Given the description of an element on the screen output the (x, y) to click on. 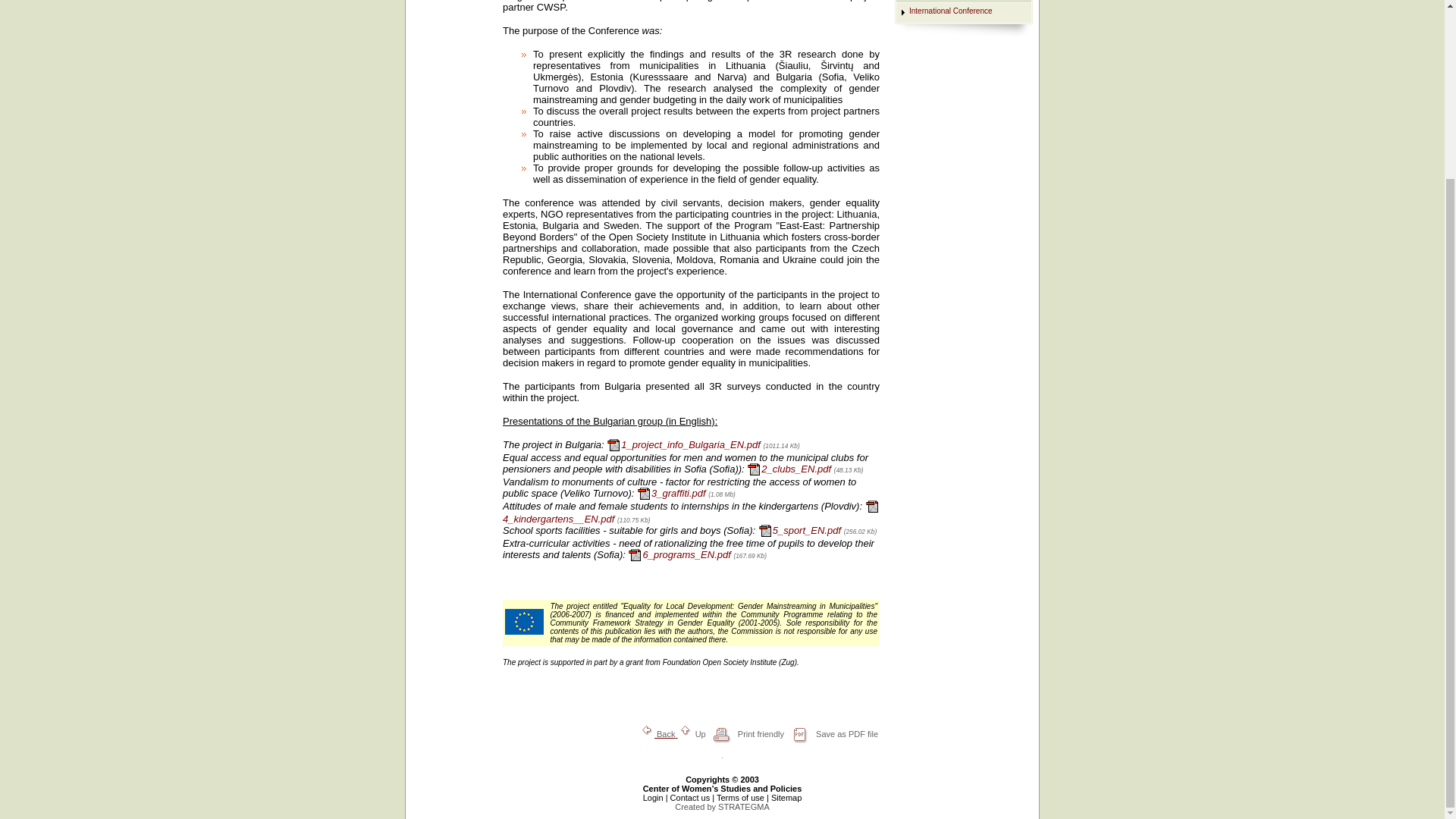
Save as PDF file (831, 733)
Save as PDF file (831, 733)
Login (653, 797)
Up (692, 733)
Print friendly (746, 733)
Sitemap (786, 797)
Created by STRATEGMA (743, 806)
Contact us (689, 797)
International Conference (950, 10)
Print friendly (746, 733)
STRATEGMA (743, 806)
Terms of use (740, 797)
Back (658, 733)
